Given the description of an element on the screen output the (x, y) to click on. 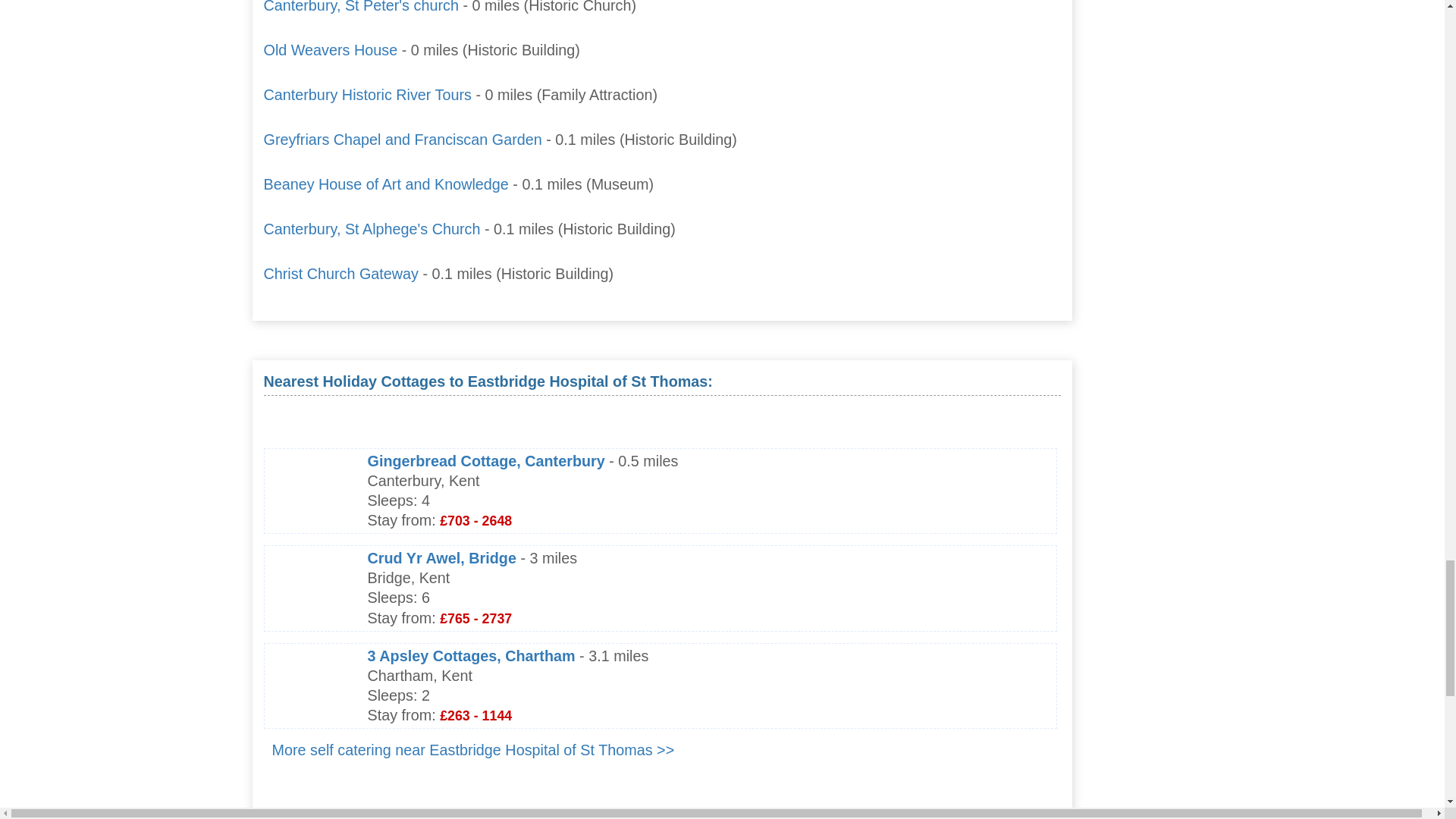
Canterbury, St Alphege's Church, Historic Building (371, 228)
Canterbury, St Peter's church, Historic Church (360, 6)
Christ Church Gateway, Historic Building (341, 273)
Old Weavers House, Historic Building (330, 49)
Greyfriars Chapel and Franciscan Garden, Historic Building (402, 139)
Beaney House of Art and Knowledge, Museum (385, 184)
Canterbury Historic River Tours, Family Attraction (367, 94)
